Given the description of an element on the screen output the (x, y) to click on. 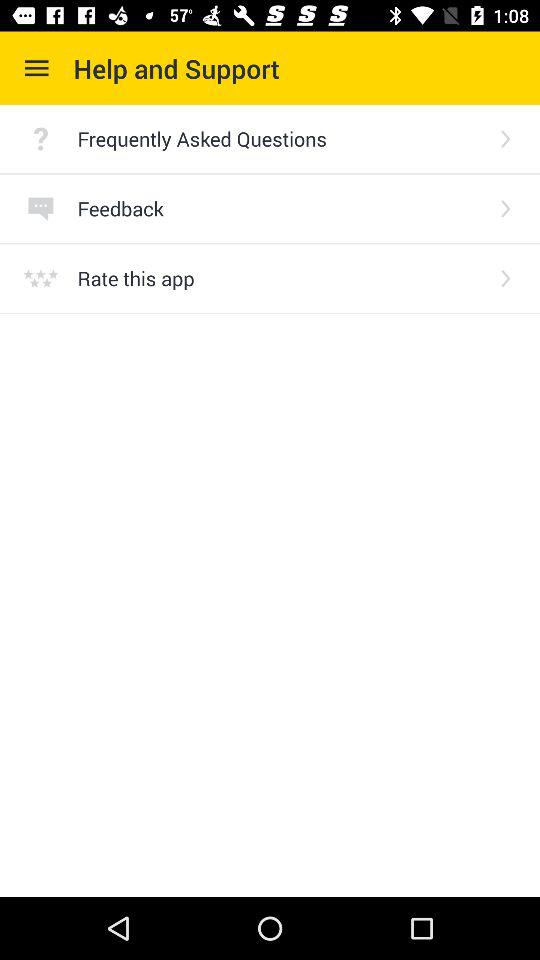
launch the frequently asked questions (280, 138)
